Given the description of an element on the screen output the (x, y) to click on. 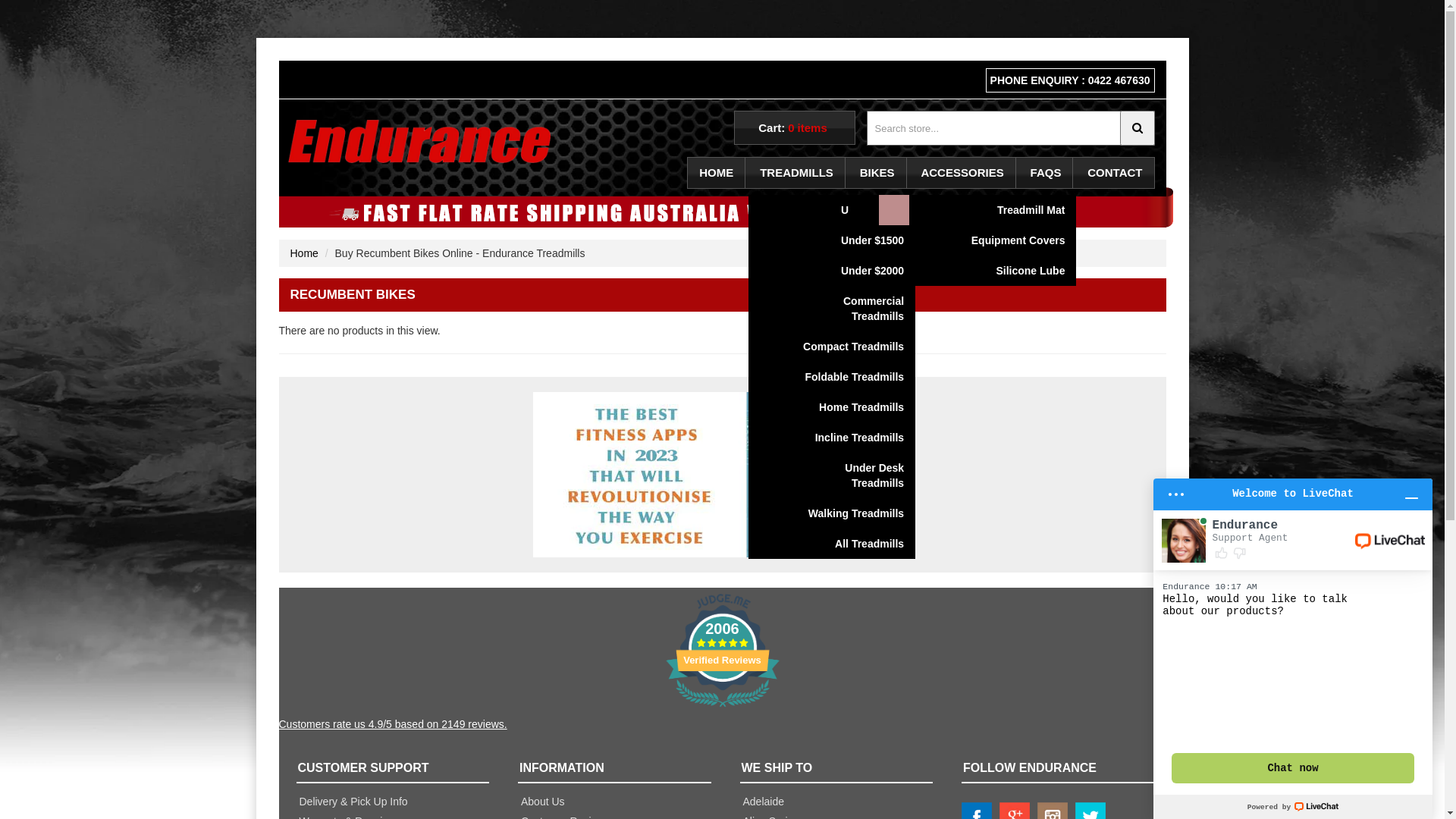
Compact Treadmills Element type: text (846, 346)
ACCESSORIES Element type: text (962, 172)
HOME Element type: text (716, 172)
Commercial Treadmills Element type: text (846, 308)
Customers rate us 4.9/5 based on 2149 reviews. Element type: text (722, 724)
Under Desk Treadmills Element type: text (846, 475)
Silicone Lube Element type: text (1007, 270)
Under $2000 Element type: text (846, 270)
All Treadmills Element type: text (846, 543)
Recumbent Bikes Element type: text (946, 209)
Foldable Treadmills Element type: text (846, 376)
Home Element type: text (303, 253)
Treadmill Mat Element type: text (1007, 209)
Cart:0items Element type: text (794, 127)
FAQS Element type: text (1046, 172)
Walking Treadmills Element type: text (846, 513)
TREADMILLS Element type: text (796, 172)
BIKES Element type: text (877, 172)
Under $1500 Element type: text (846, 240)
Incline Treadmills Element type: text (846, 437)
Customers rate us 4.9/5 based on 2149 reviews. Element type: text (393, 724)
CONTACT Element type: text (1114, 172)
Equipment Covers Element type: text (1007, 240)
Home Treadmills Element type: text (846, 407)
Delivery & Pick Up Info Element type: text (352, 801)
0422 467630 Element type: text (1119, 80)
Under $1000 Element type: text (846, 209)
Adelaide Element type: text (763, 801)
2006
Verified Reviews Element type: text (722, 709)
About Us Element type: text (542, 801)
